Given the description of an element on the screen output the (x, y) to click on. 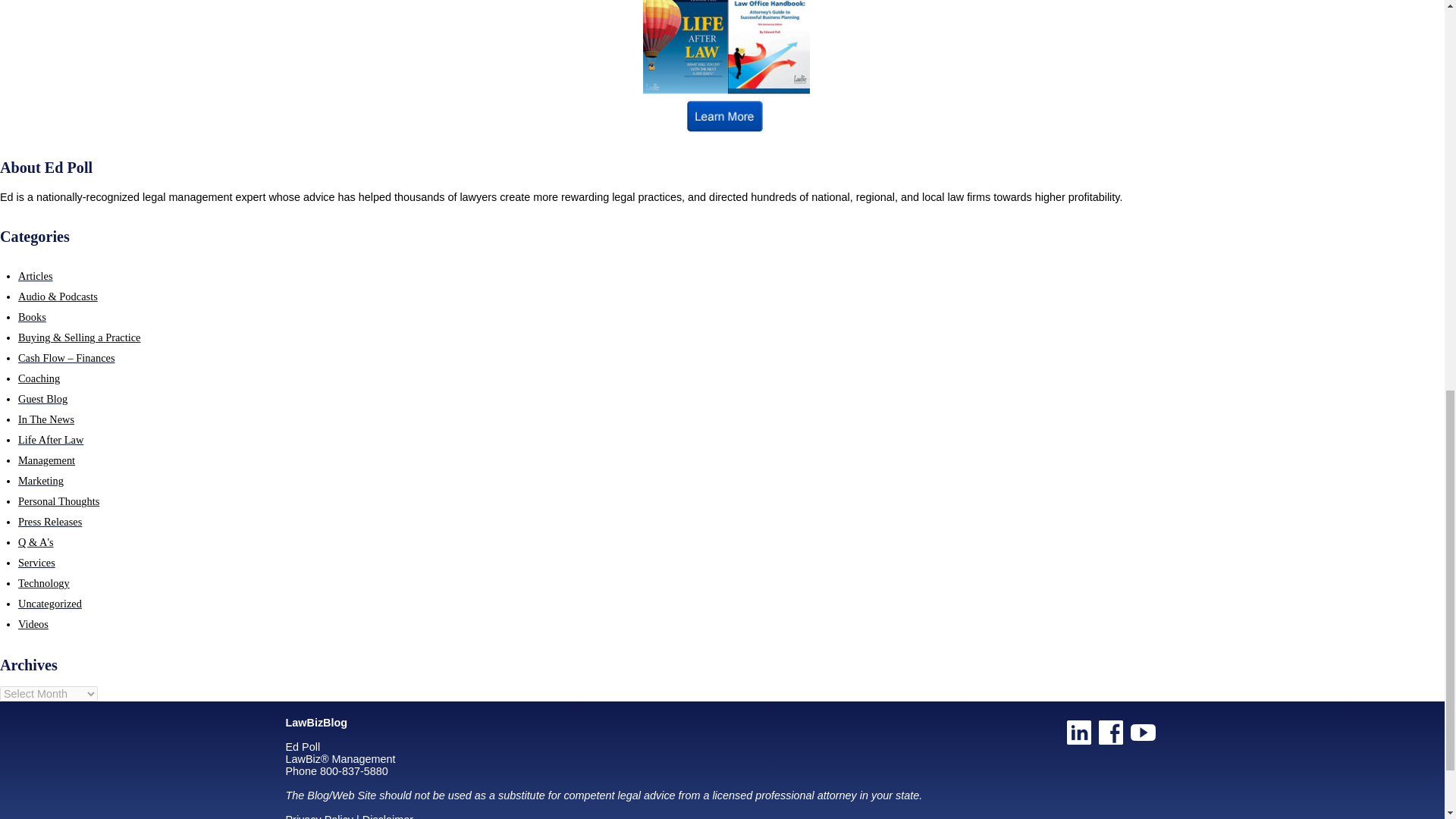
Press Releases (49, 521)
Technology (43, 582)
Marketing (40, 480)
Services (36, 562)
Management (46, 460)
Books (31, 316)
Articles (34, 275)
Disclaimer (387, 816)
Life After Law (49, 439)
Coaching (38, 378)
